Given the description of an element on the screen output the (x, y) to click on. 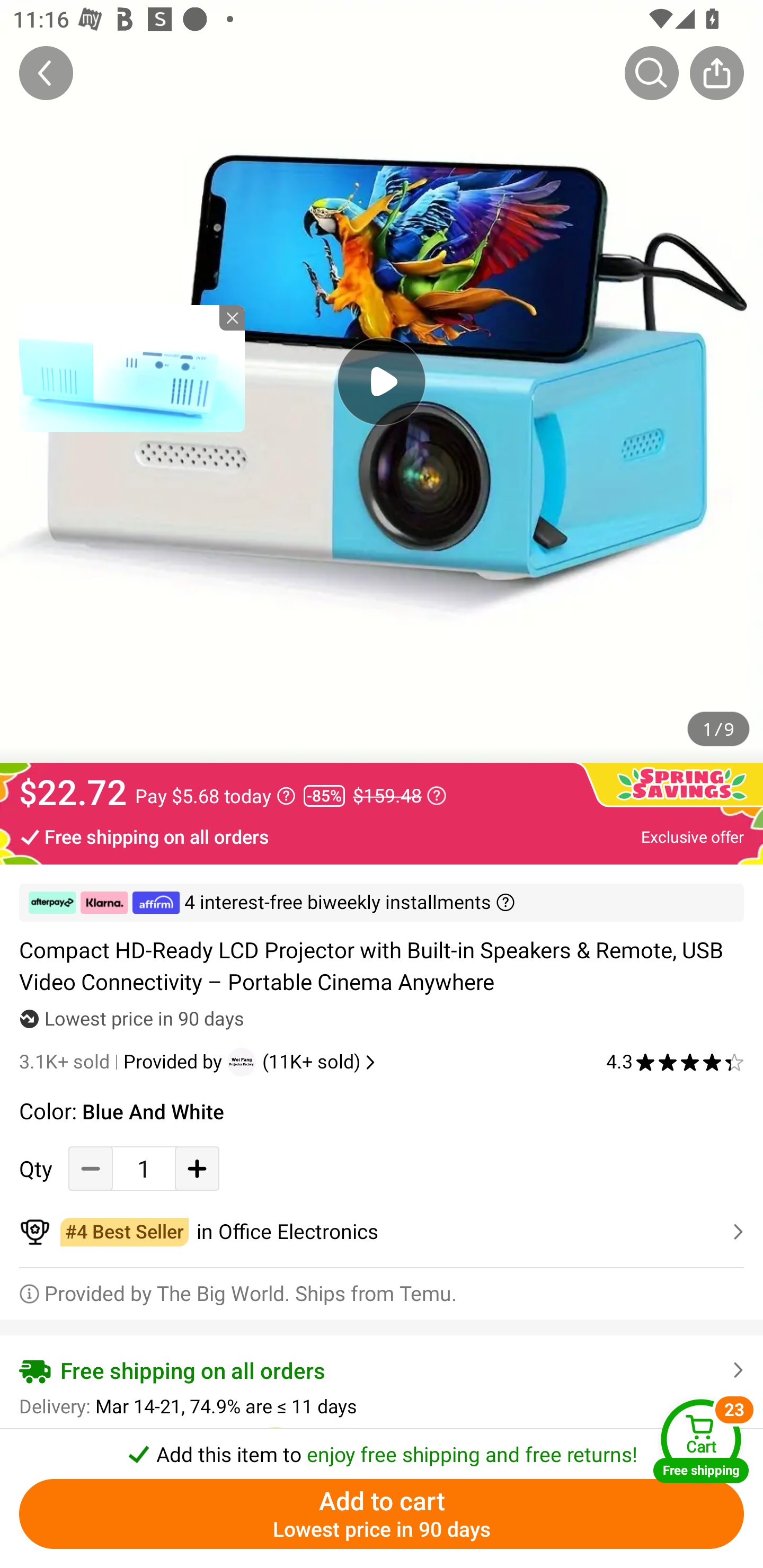
Back (46, 72)
Share (716, 72)
tronplayer_view (131, 368)
Pay $5.68 today   (215, 795)
Free shipping on all orders Exclusive offer (381, 836)
￼ ￼ ￼ 4 interest-free biweekly installments ￼ (381, 902)
3.1K+ sold Provided by  (123, 1061)
4.3 (674, 1061)
Decrease Quantity Button (90, 1168)
1 (143, 1168)
Add Quantity button (196, 1168)
￼￼in Office Electronics (381, 1231)
Cart Free shipping Cart (701, 1440)
Add to cart Lowest price in 90 days (381, 1513)
